Given the description of an element on the screen output the (x, y) to click on. 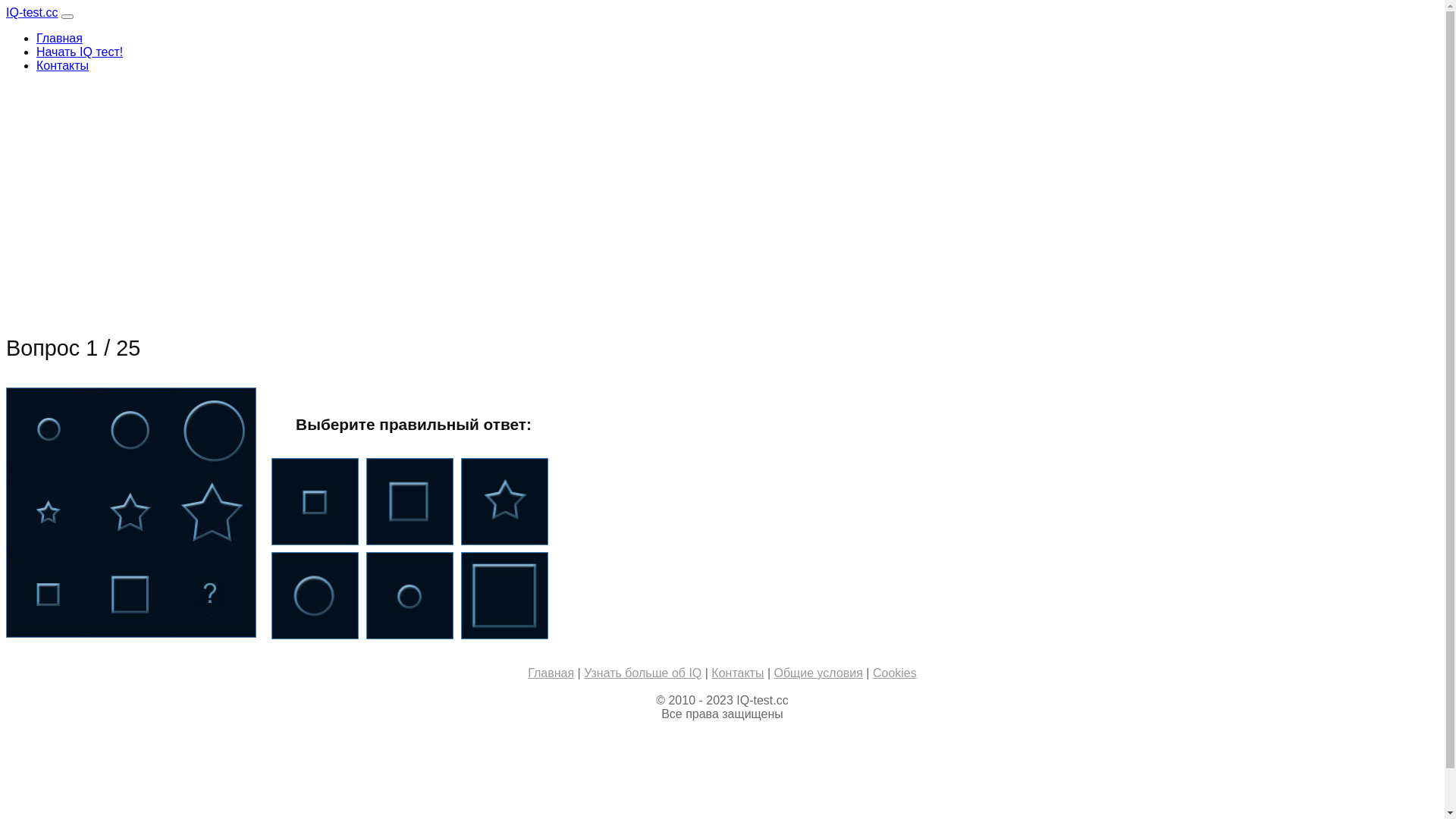
IQ-test.cc Element type: text (31, 12)
Cookies Element type: text (894, 672)
Advertisement Element type: hover (461, 190)
